Given the description of an element on the screen output the (x, y) to click on. 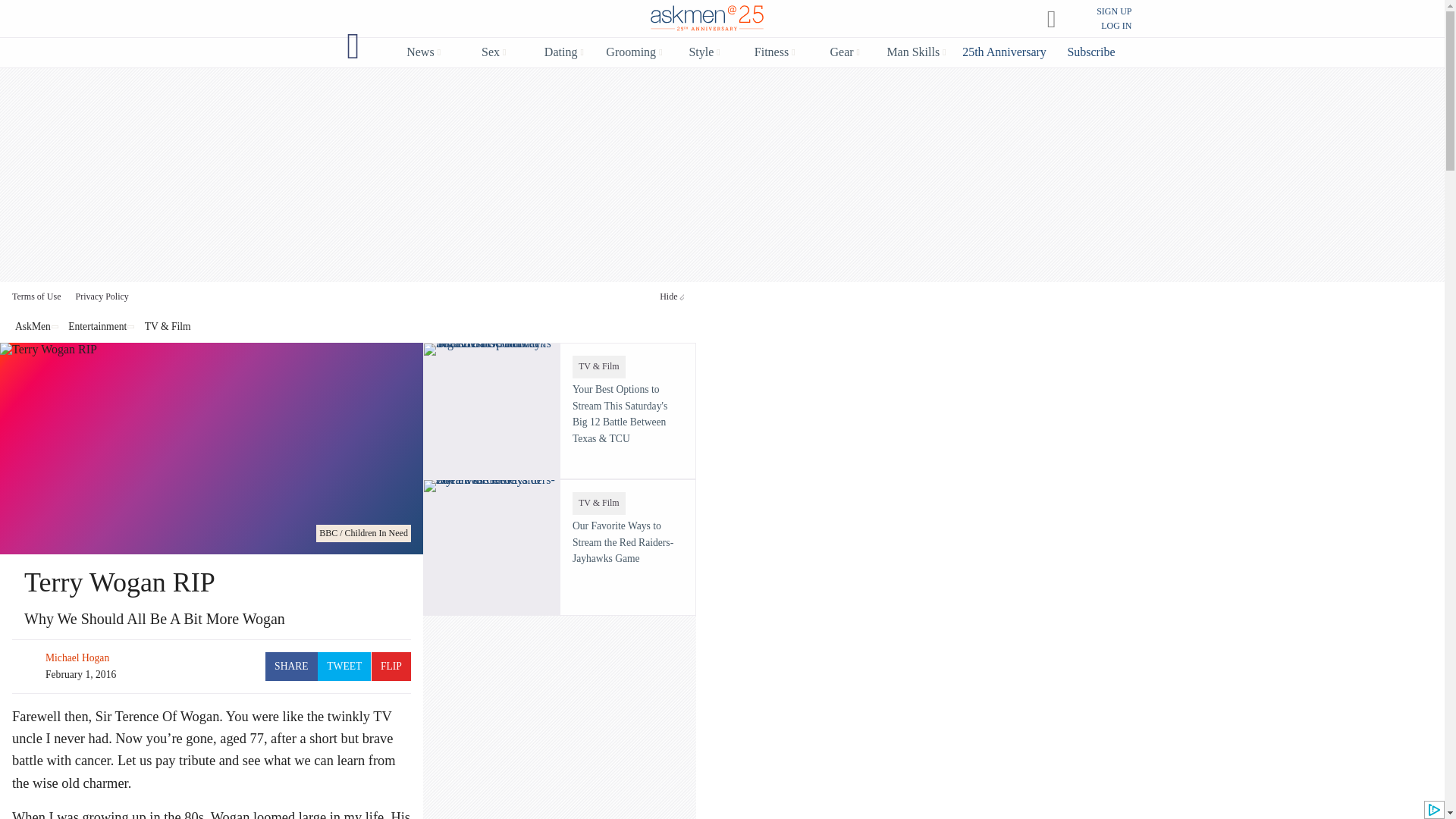
AskMen (706, 20)
GuyQ (352, 45)
SIGN UP (1113, 11)
LOG IN (1115, 25)
